Given the description of an element on the screen output the (x, y) to click on. 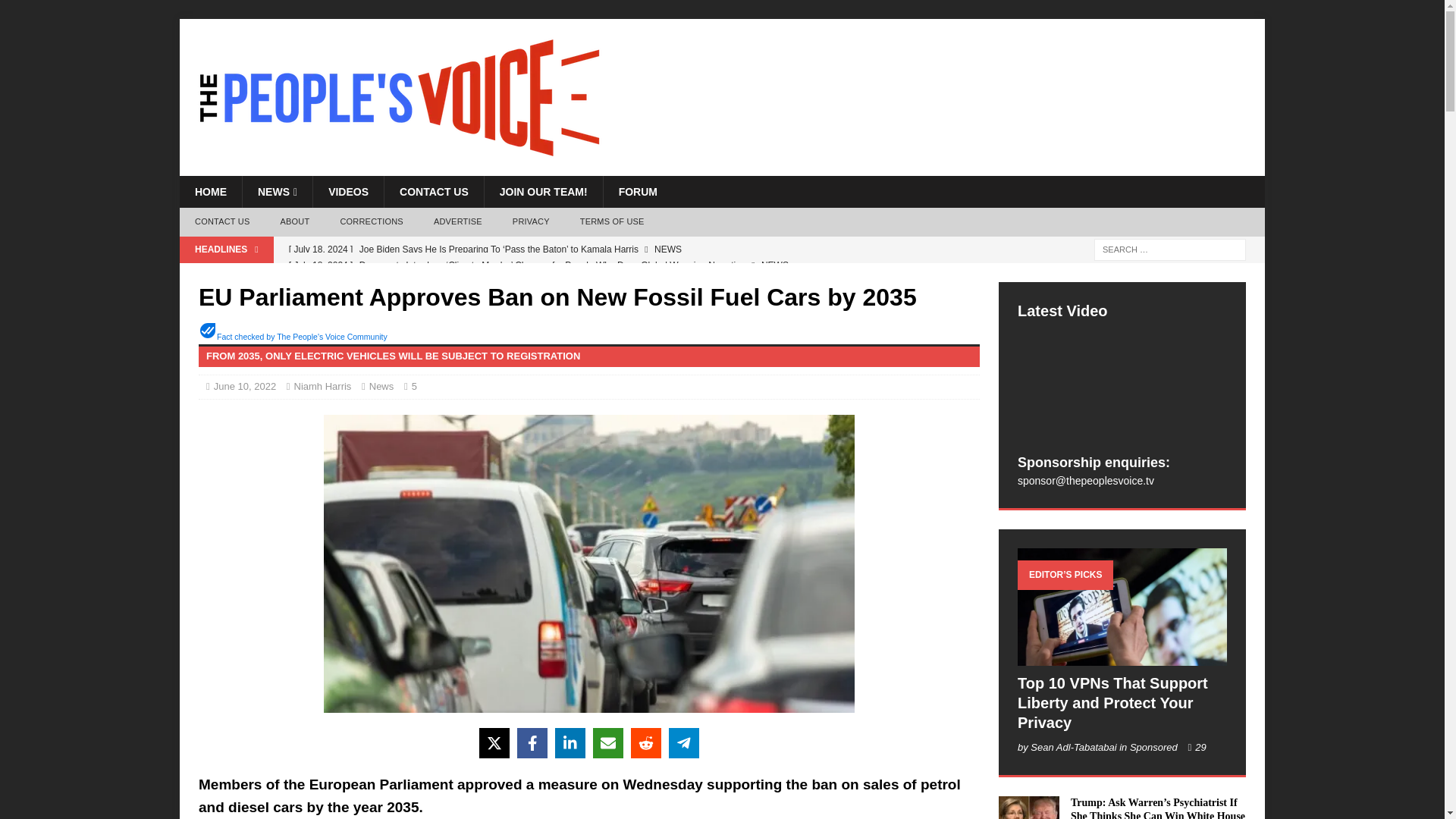
JOIN OUR TEAM! (542, 192)
CONTACT US (221, 222)
FORUM (637, 192)
CORRECTIONS (370, 222)
VIDEOS (348, 192)
TERMS OF USE (611, 222)
ABOUT (294, 222)
CONTACT US (433, 192)
PRIVACY (530, 222)
NEWS (277, 192)
HOME (210, 192)
ADVERTISE (458, 222)
